Given the description of an element on the screen output the (x, y) to click on. 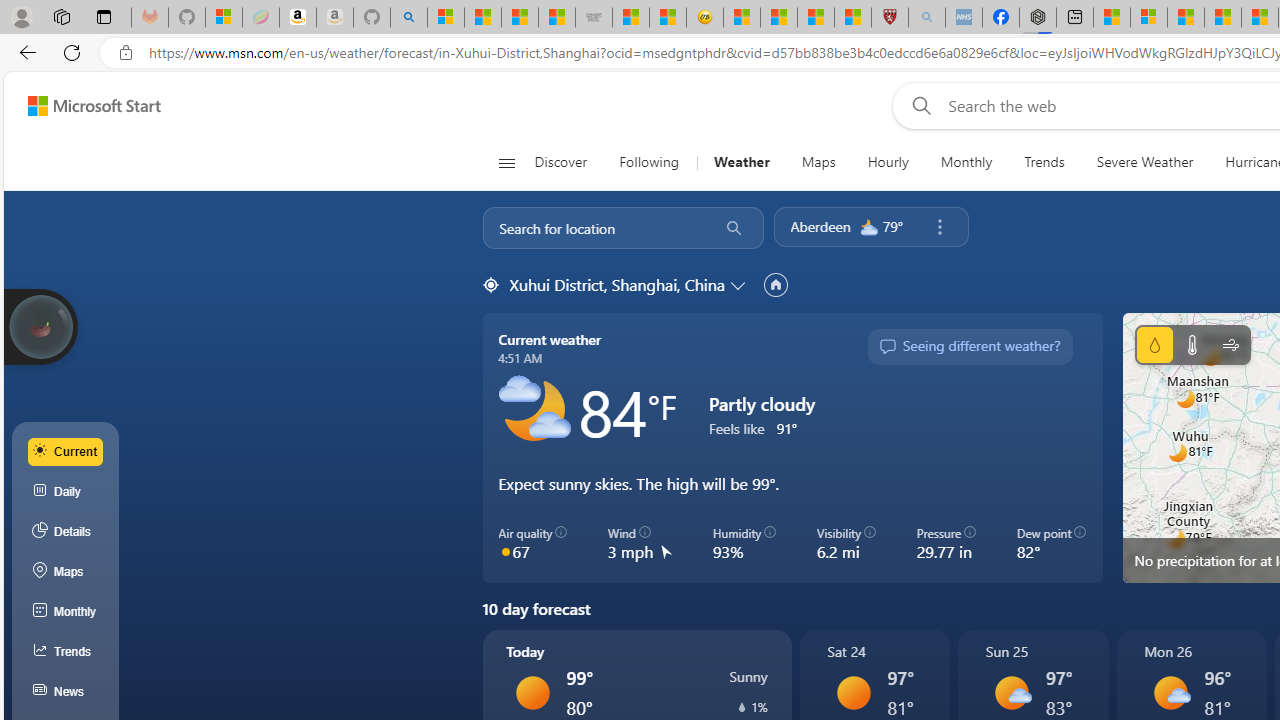
Set as primary location (775, 284)
Monthly (966, 162)
Search for location (594, 227)
Maps (818, 162)
Open navigation menu (506, 162)
Severe Weather (1144, 162)
